Given the description of an element on the screen output the (x, y) to click on. 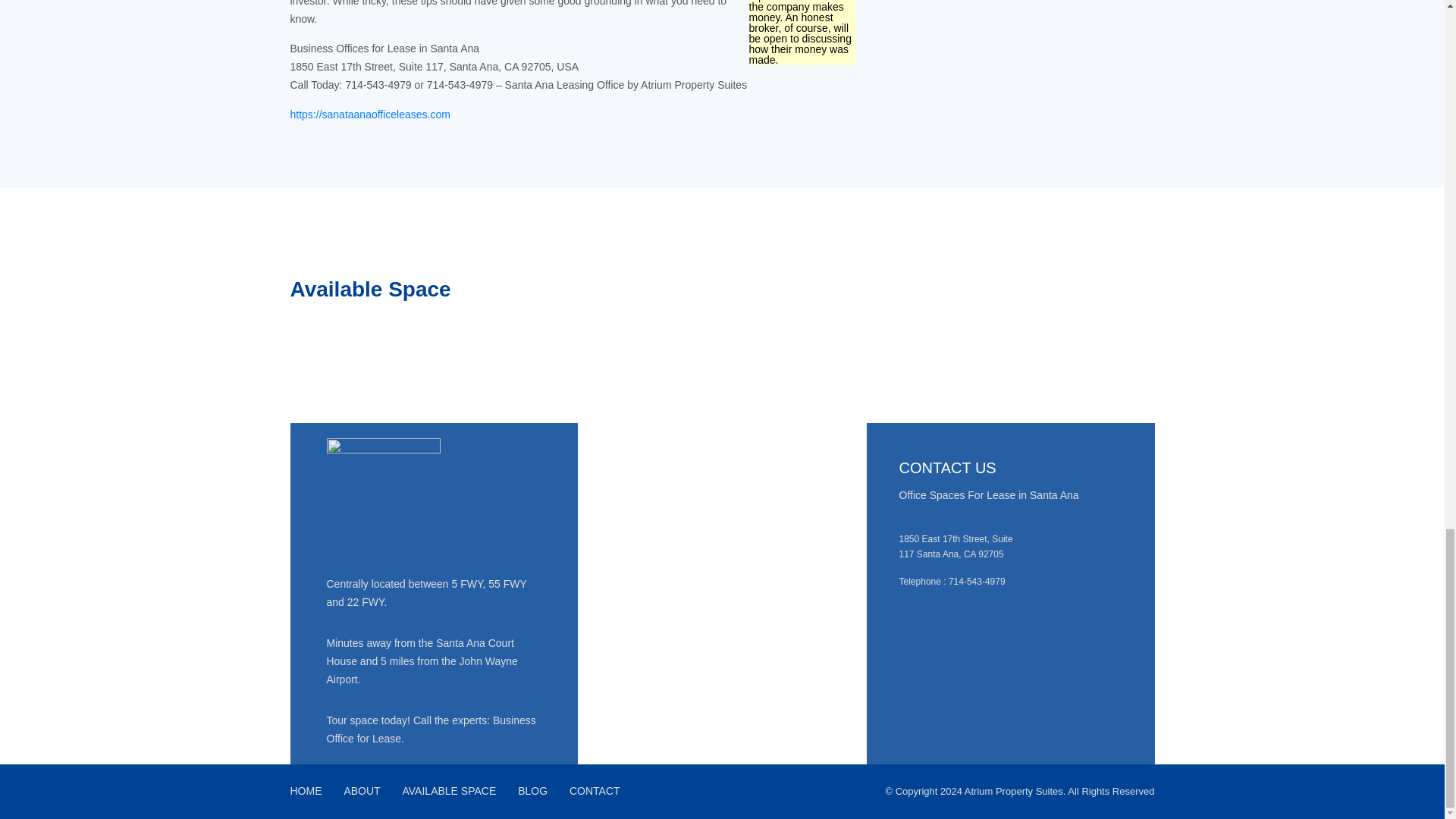
Business Offices for Lease in Santa Ana (369, 114)
CONTACT (594, 790)
AVAILABLE SPACE (449, 790)
